Given the description of an element on the screen output the (x, y) to click on. 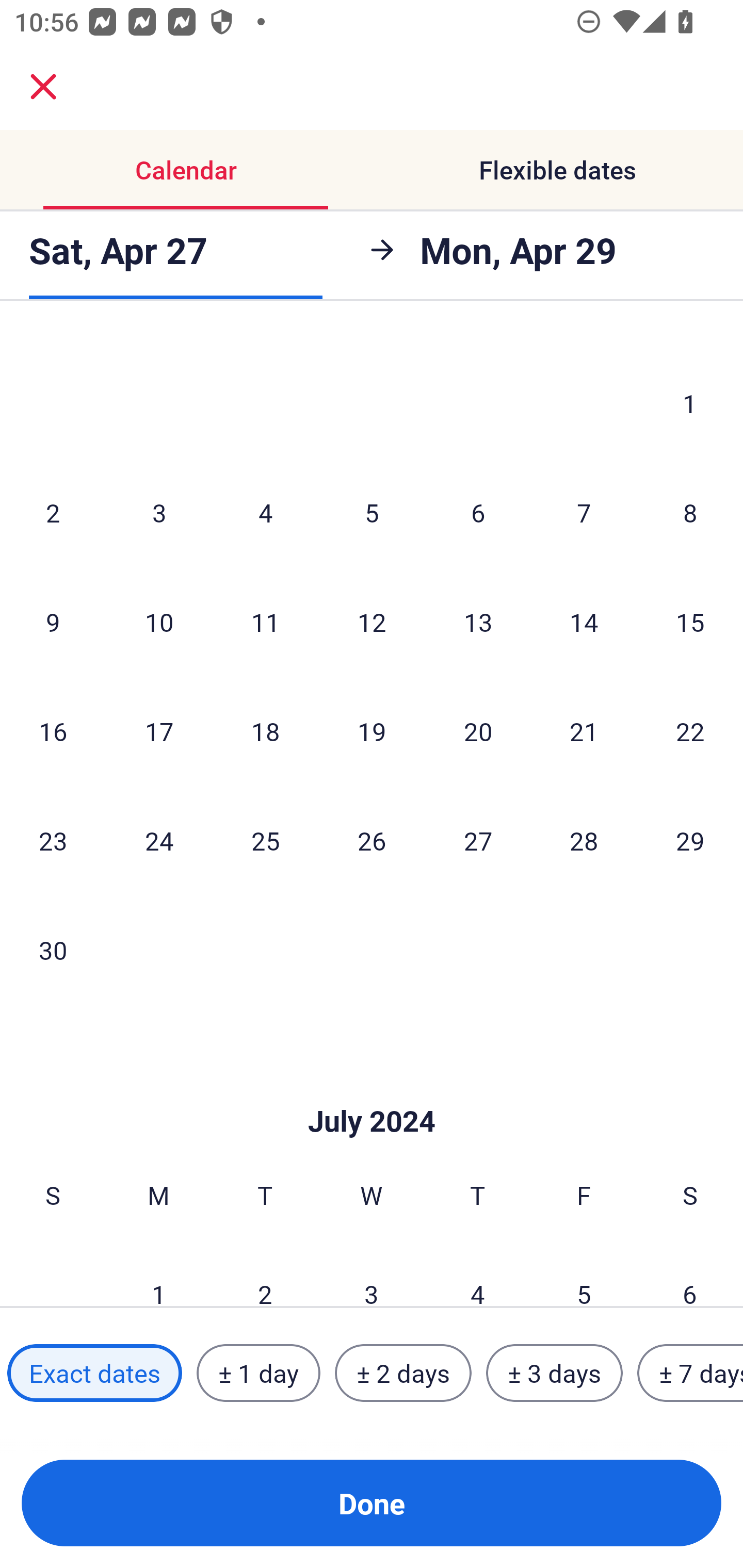
close. (43, 86)
Flexible dates (557, 170)
1 Saturday, June 1, 2024 (689, 402)
2 Sunday, June 2, 2024 (53, 512)
3 Monday, June 3, 2024 (159, 512)
4 Tuesday, June 4, 2024 (265, 512)
5 Wednesday, June 5, 2024 (371, 512)
6 Thursday, June 6, 2024 (477, 512)
7 Friday, June 7, 2024 (584, 512)
8 Saturday, June 8, 2024 (690, 512)
9 Sunday, June 9, 2024 (53, 621)
10 Monday, June 10, 2024 (159, 621)
11 Tuesday, June 11, 2024 (265, 621)
12 Wednesday, June 12, 2024 (371, 621)
13 Thursday, June 13, 2024 (477, 621)
14 Friday, June 14, 2024 (584, 621)
15 Saturday, June 15, 2024 (690, 621)
16 Sunday, June 16, 2024 (53, 731)
17 Monday, June 17, 2024 (159, 731)
18 Tuesday, June 18, 2024 (265, 731)
